Given the description of an element on the screen output the (x, y) to click on. 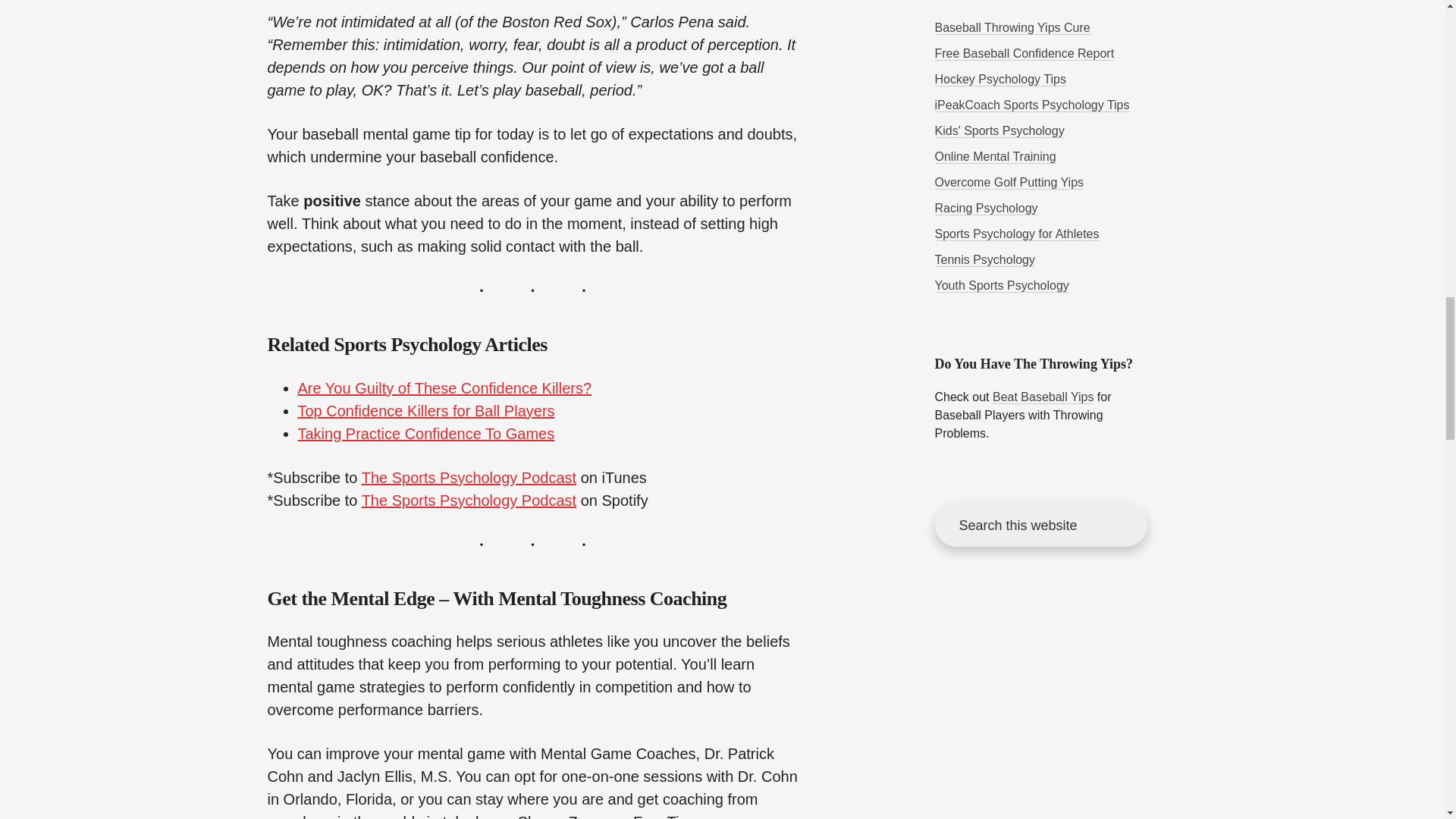
Taking Practice Confidence To Games (425, 433)
Sports Psychology for Athletes by Peak Performance Sports (1016, 233)
Learn how to beat the throwing yips in baseball (1011, 28)
Online Mental Training Program for Athletes (994, 156)
Youth Sports Psychology for Parents and Youth Coaches (1001, 285)
Hockey Psychology and Mental Toughness (999, 79)
Free Baseball Confidence Report to Improve Your Mental Game (1023, 53)
Mental Training for Auto and MX Racers (985, 208)
Sports Psychology for Parent and Coaches of Young Athletes (999, 131)
Are You Guilty of These Confidence Killers? (444, 388)
he Sports Psychology Podcast (473, 477)
Top Confidence Killers for Ball Players (425, 410)
The Sports Psychology Podcas (466, 500)
